Given the description of an element on the screen output the (x, y) to click on. 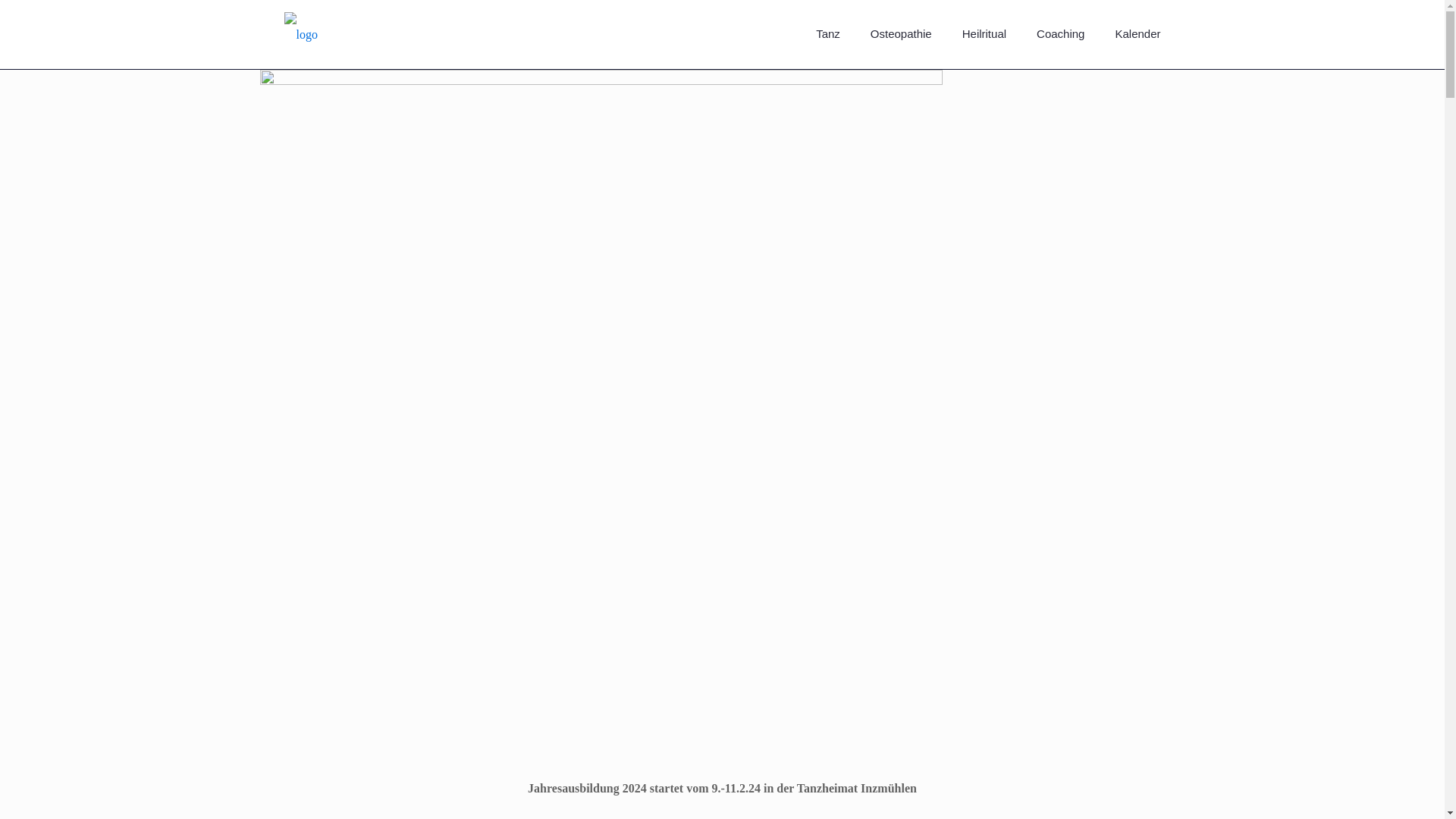
Kalender (1136, 33)
Osteopathie (901, 33)
Heilritual (984, 33)
Coaching (1060, 33)
